Given the description of an element on the screen output the (x, y) to click on. 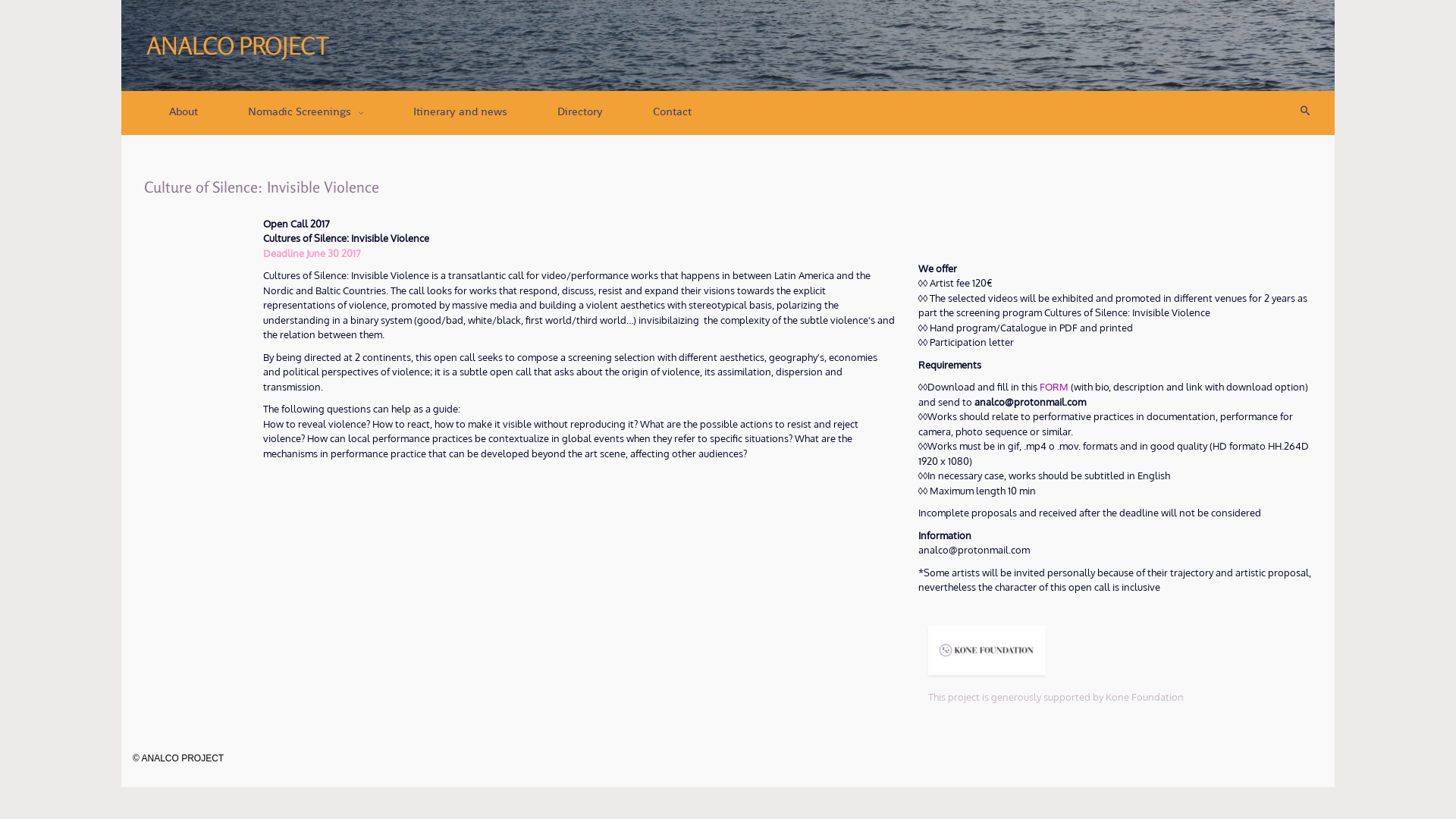
FORM Element type: text (1053, 386)
About Element type: text (183, 112)
Itinerary and news Element type: text (459, 112)
Directory Element type: text (579, 112)
ANALCO PROJECT Element type: text (244, 45)
Nomadic Screenings Element type: text (305, 112)
Contact Element type: text (672, 112)
